Given the description of an element on the screen output the (x, y) to click on. 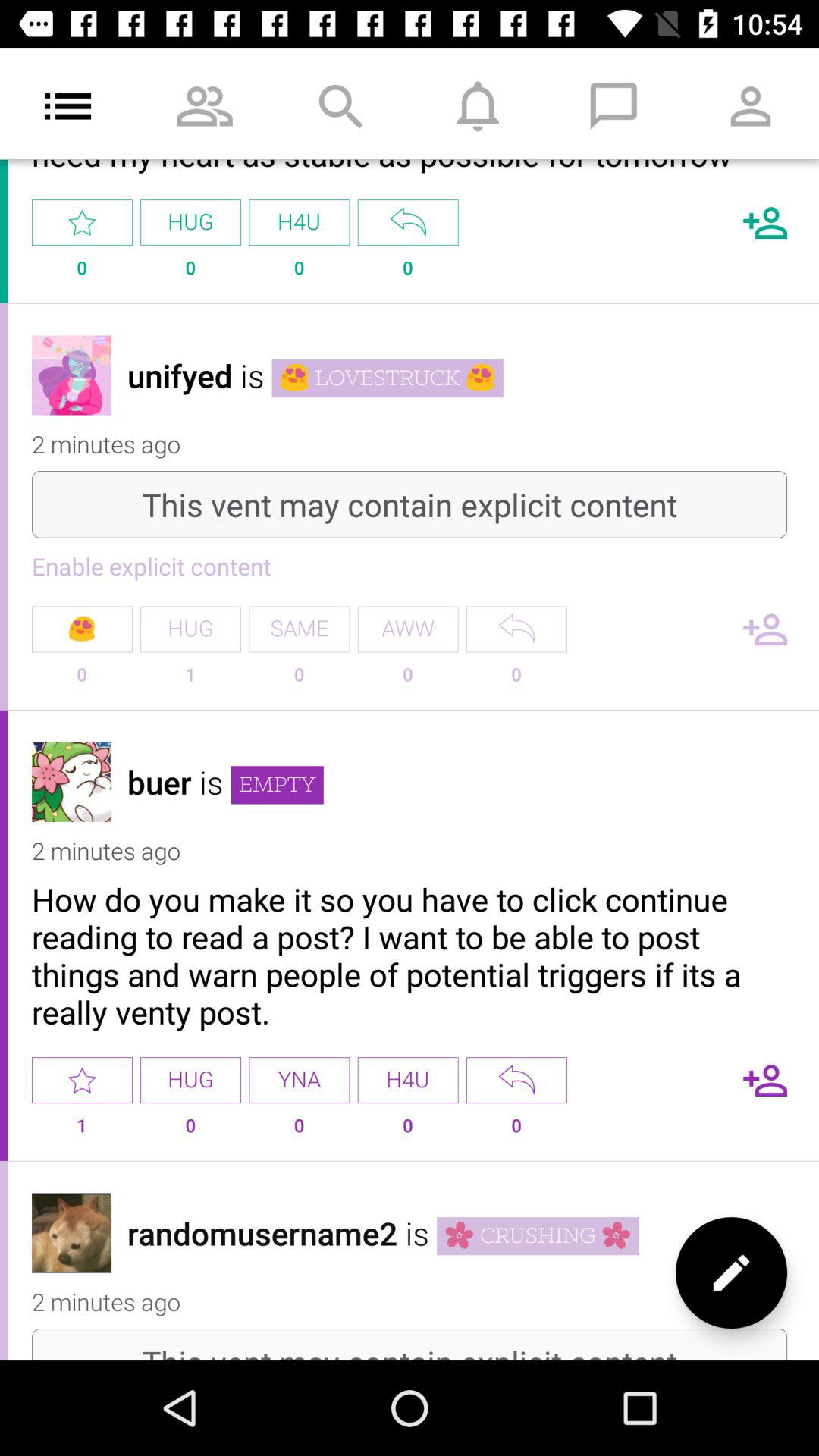
launch icon above the this vent may item (731, 1272)
